Given the description of an element on the screen output the (x, y) to click on. 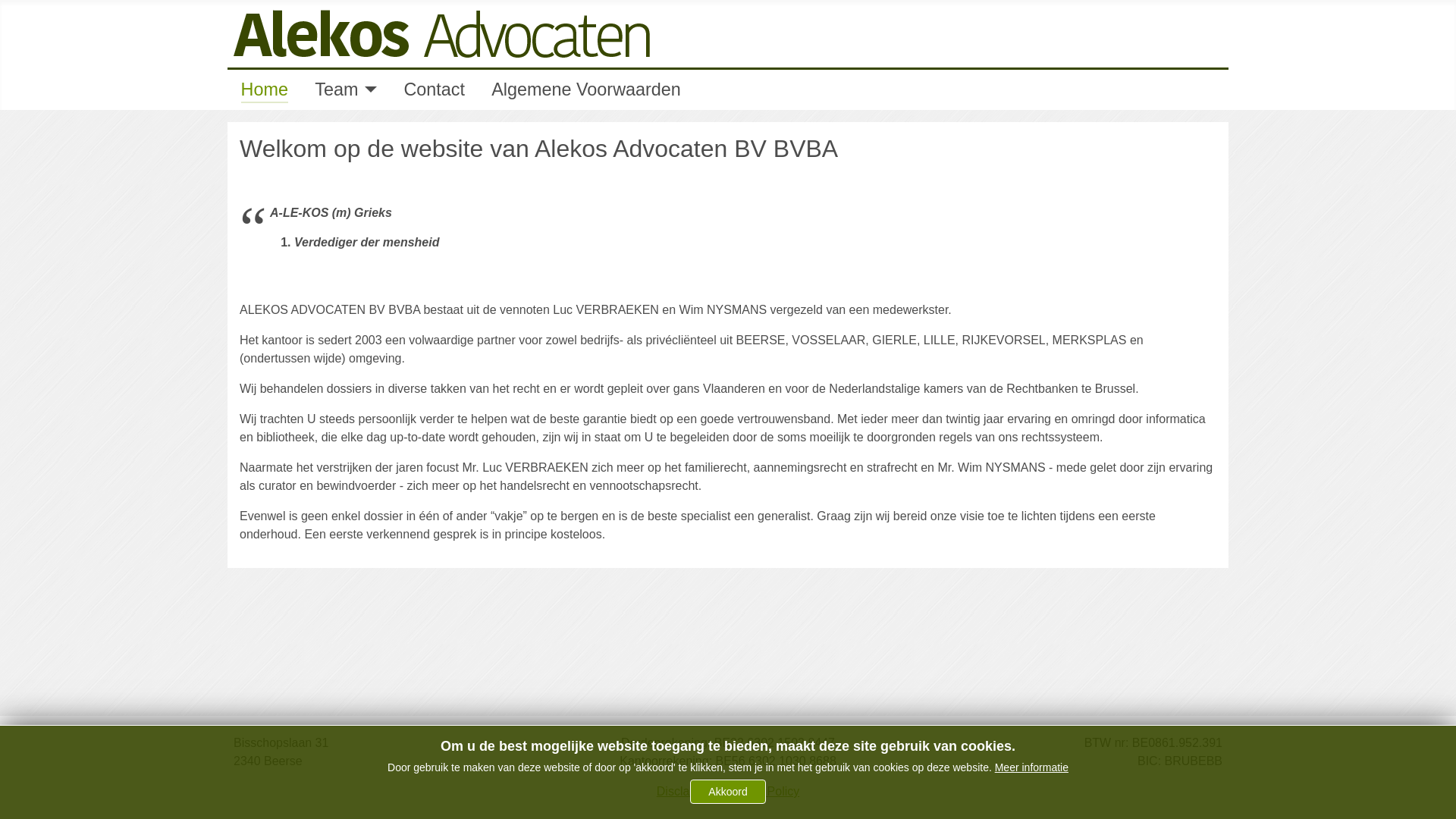
Contact Element type: text (433, 89)
Team Element type: text (335, 89)
Privacy Policy Element type: text (762, 790)
Meer informatie Element type: text (1031, 767)
Disclaimer Element type: text (684, 790)
Algemene Voorwaarden Element type: text (585, 89)
Home Element type: text (264, 89)
